Given the description of an element on the screen output the (x, y) to click on. 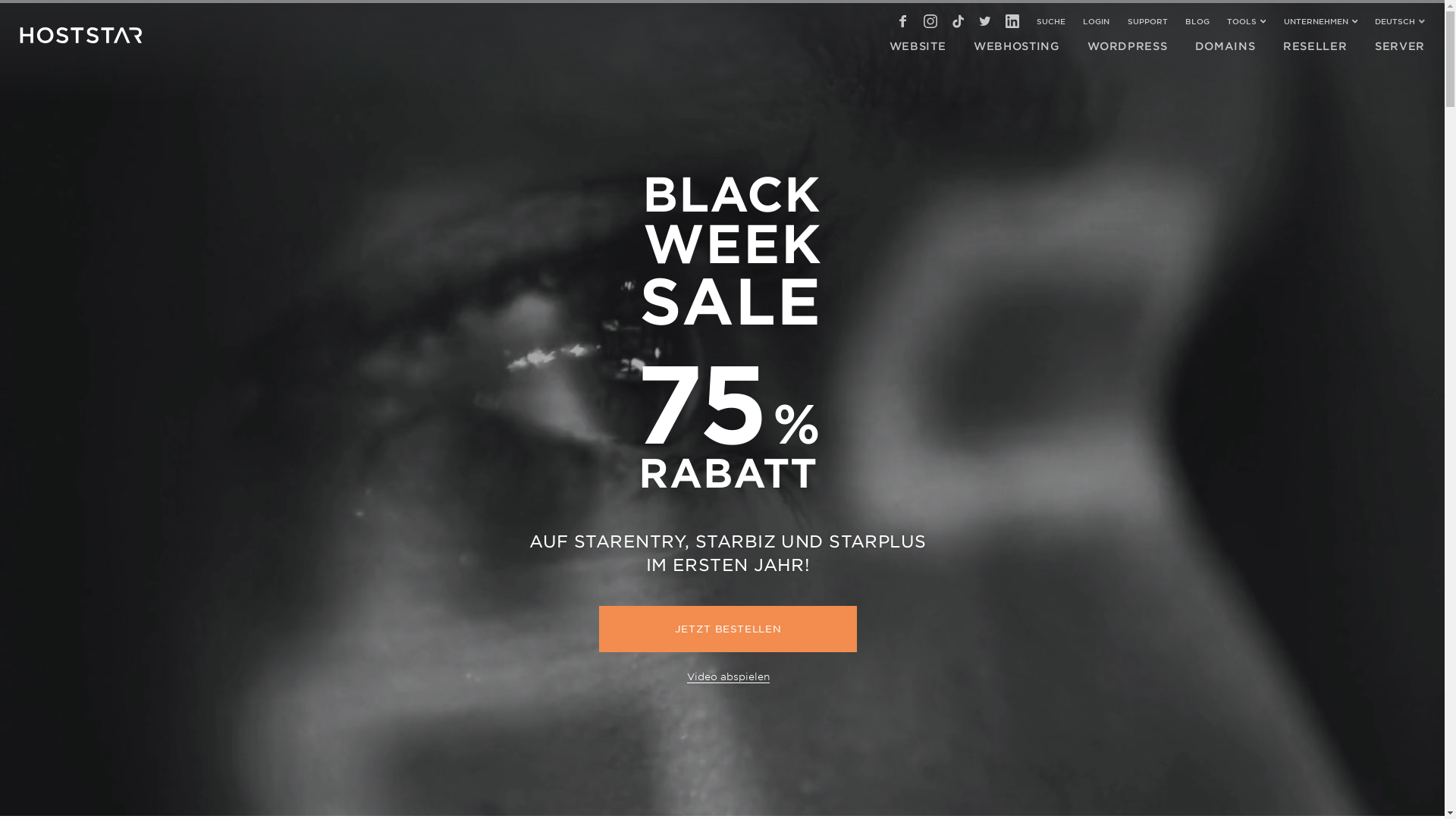
hs-icon-twitter Element type: text (984, 21)
hs-icon-facebook Element type: text (903, 21)
hs-icon-instagram Element type: text (930, 21)
SUCHE Element type: text (1050, 21)
JETZT BESTELLEN Element type: text (727, 628)
SUPPORT Element type: text (1147, 21)
Video abspielen Element type: text (727, 676)
BLOG Element type: text (1197, 21)
LOGIN Element type: text (1095, 21)
